Given the description of an element on the screen output the (x, y) to click on. 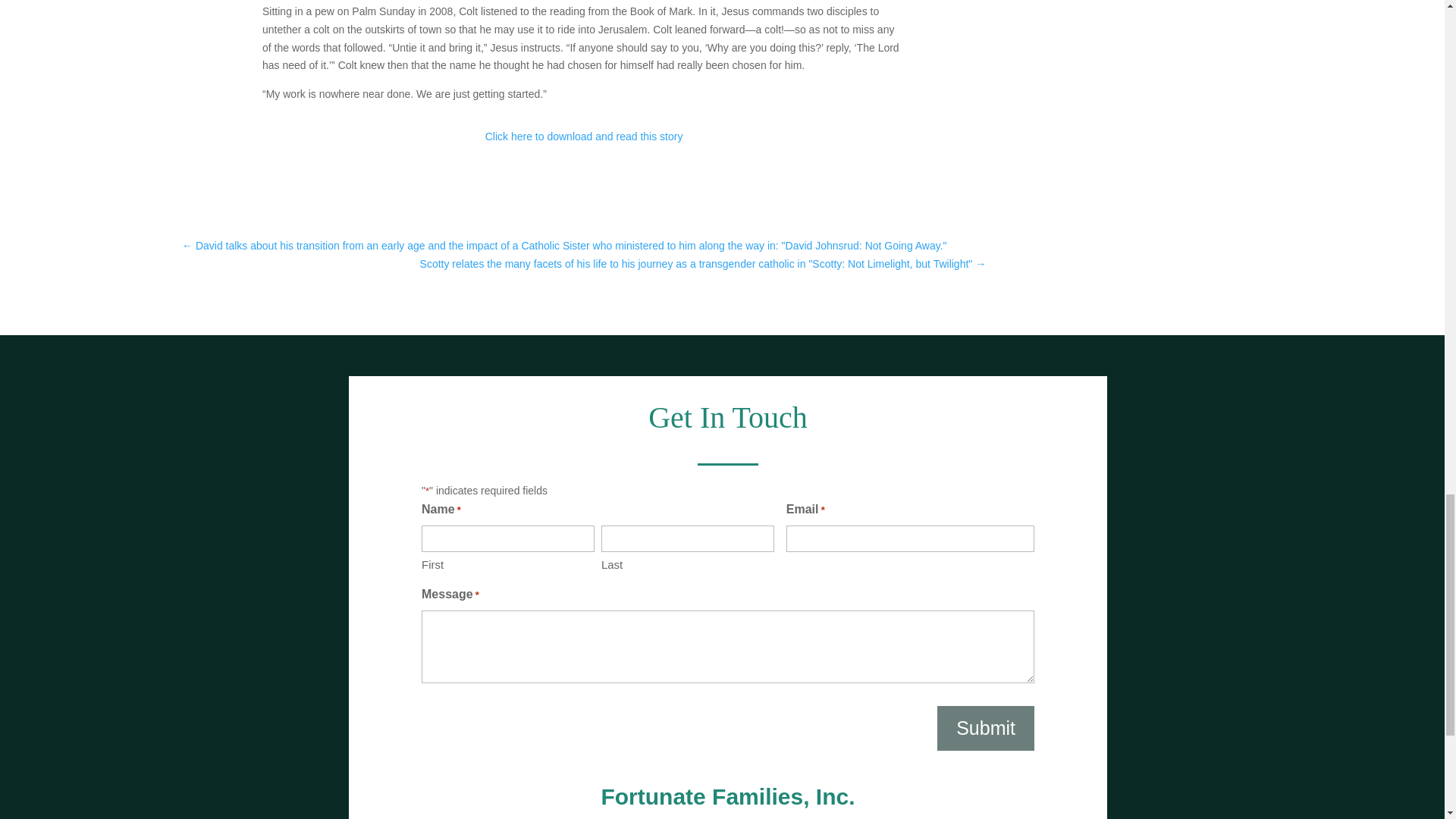
Submit (985, 728)
